Given the description of an element on the screen output the (x, y) to click on. 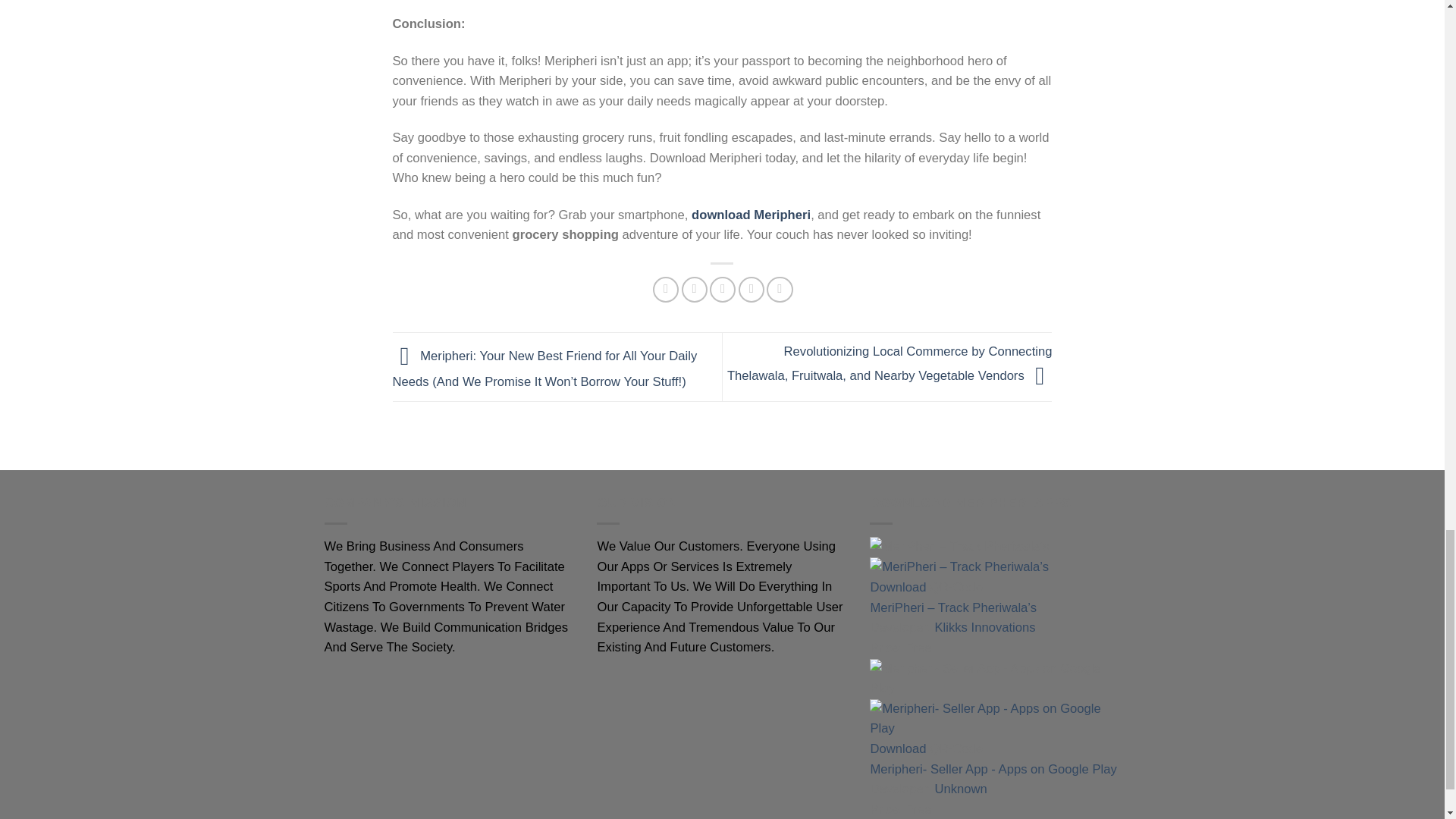
Pin on Pinterest (751, 289)
download Meripheri (750, 214)
Email to a Friend (722, 289)
Unknown (960, 789)
Share on Twitter (694, 289)
Klikks Innovations (984, 626)
Download (897, 748)
Meripheri- Seller App - Apps on Google Play (992, 769)
Share on LinkedIn (779, 289)
Share on Facebook (665, 289)
Meripheri- Seller App - Apps on Google Play (992, 769)
Download (897, 586)
